Given the description of an element on the screen output the (x, y) to click on. 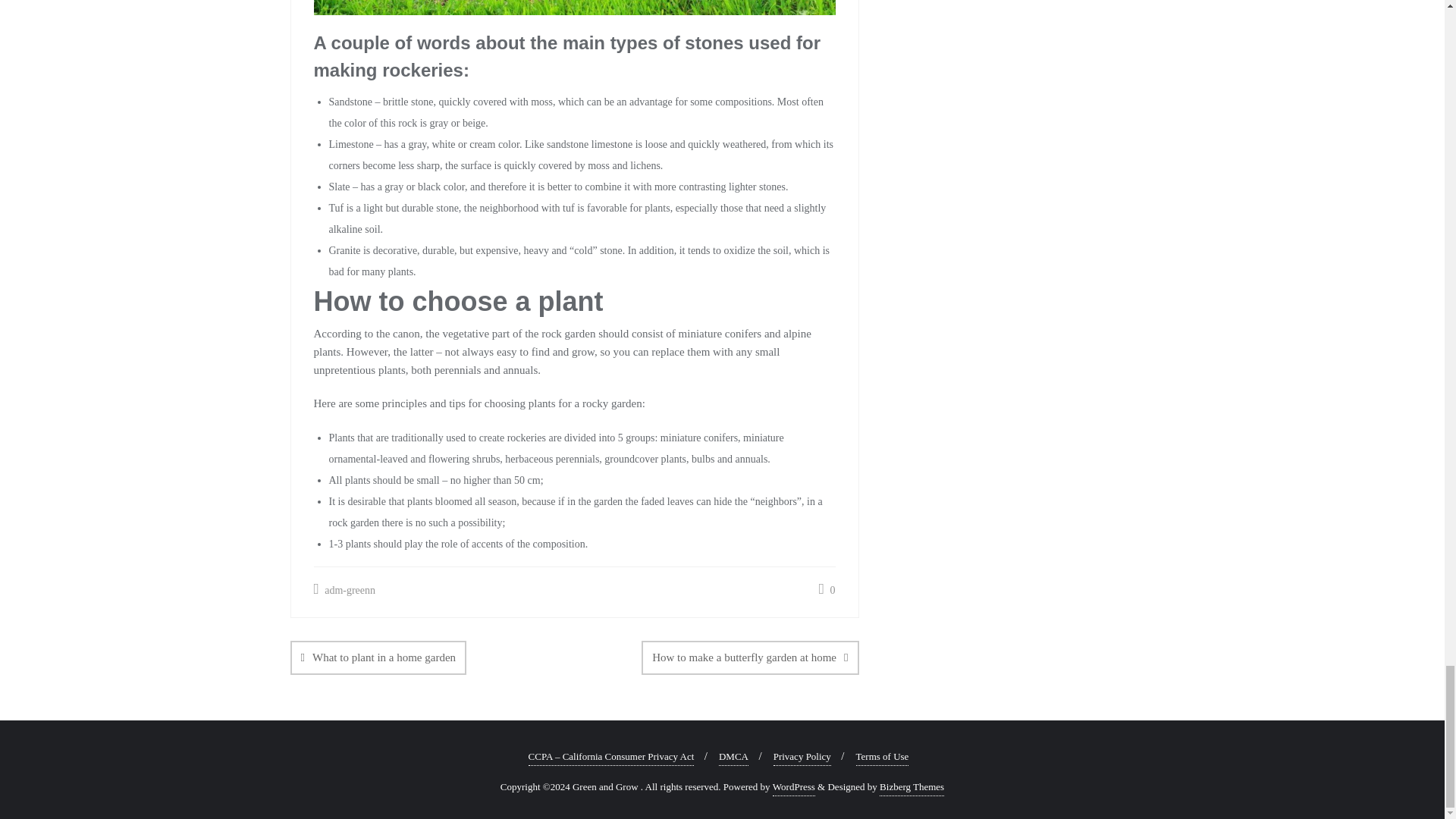
adm-greenn (344, 589)
Terms of Use (882, 756)
How to make a butterfly garden at home (750, 657)
Bizberg Themes (911, 787)
WordPress (794, 787)
What to plant in a home garden (377, 657)
DMCA (733, 756)
Privacy Policy (802, 756)
